Given the description of an element on the screen output the (x, y) to click on. 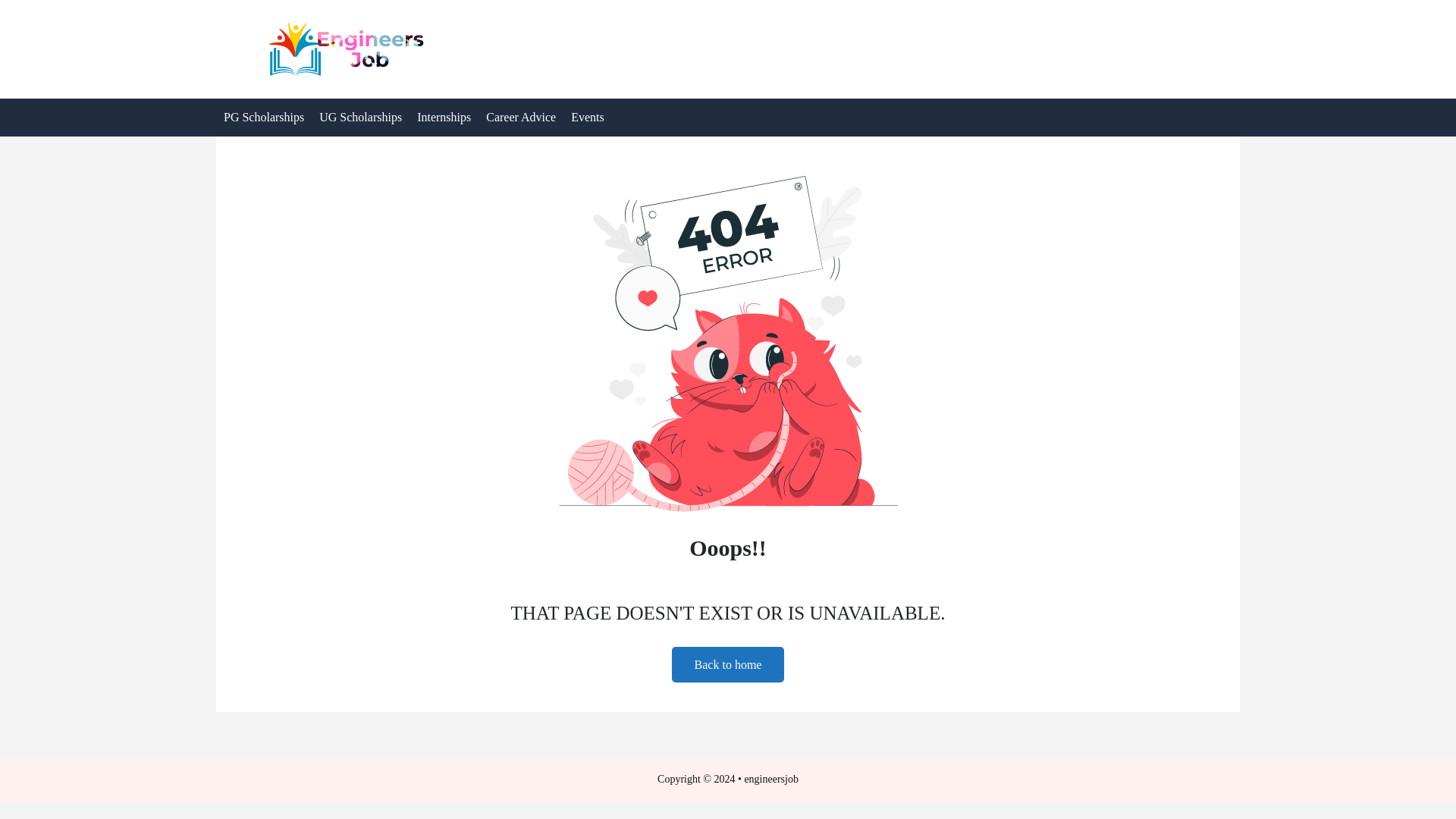
PG Scholarships (263, 117)
Career Advice (521, 117)
Back to home (727, 664)
Internships (444, 117)
Events (587, 117)
UG Scholarships (360, 117)
